Given the description of an element on the screen output the (x, y) to click on. 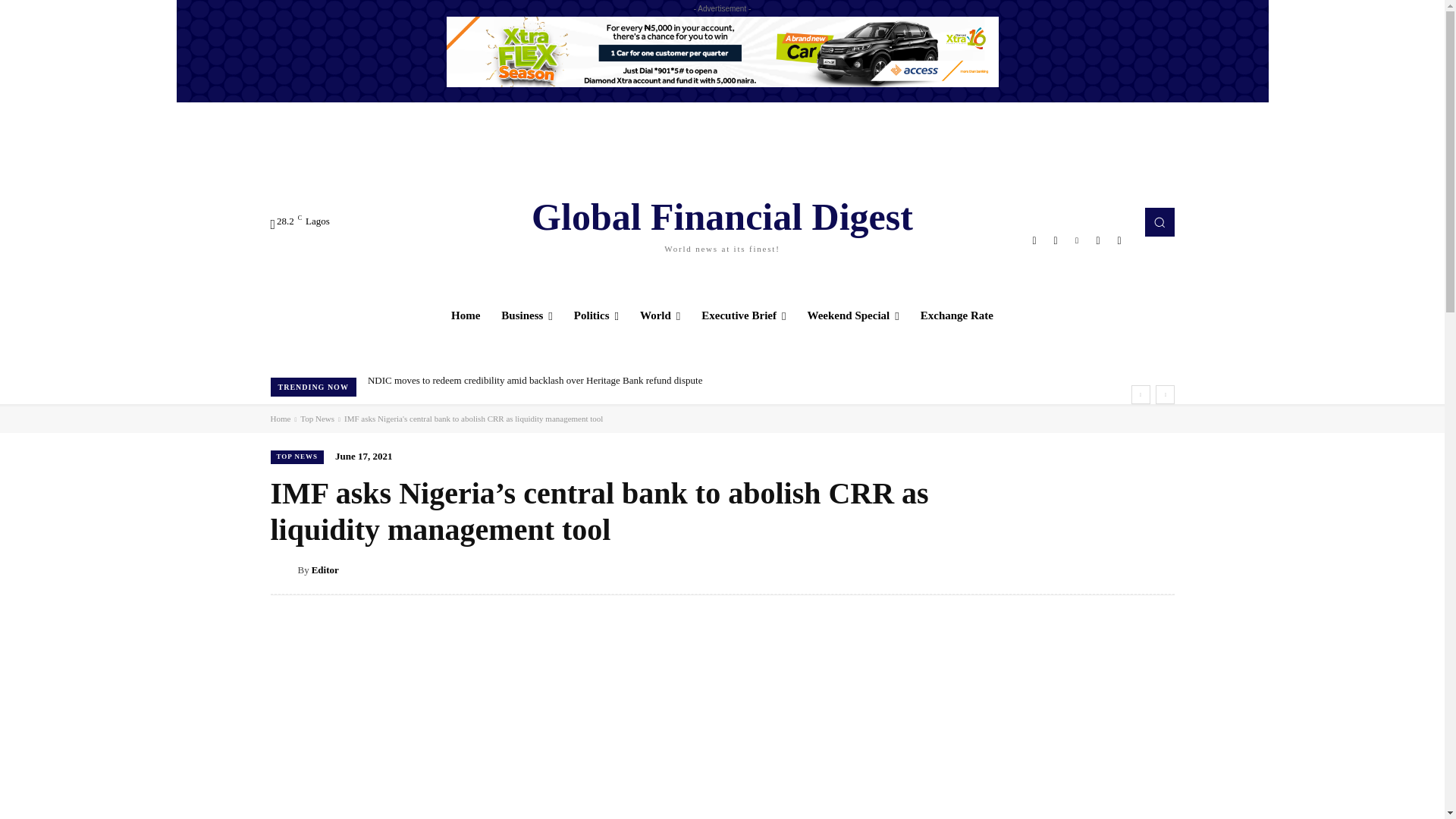
Instagram (1055, 240)
Home (465, 315)
Business (526, 315)
Facebook (1034, 240)
Youtube (1118, 240)
Linkedin (1076, 240)
Twitter (1097, 240)
